Given the description of an element on the screen output the (x, y) to click on. 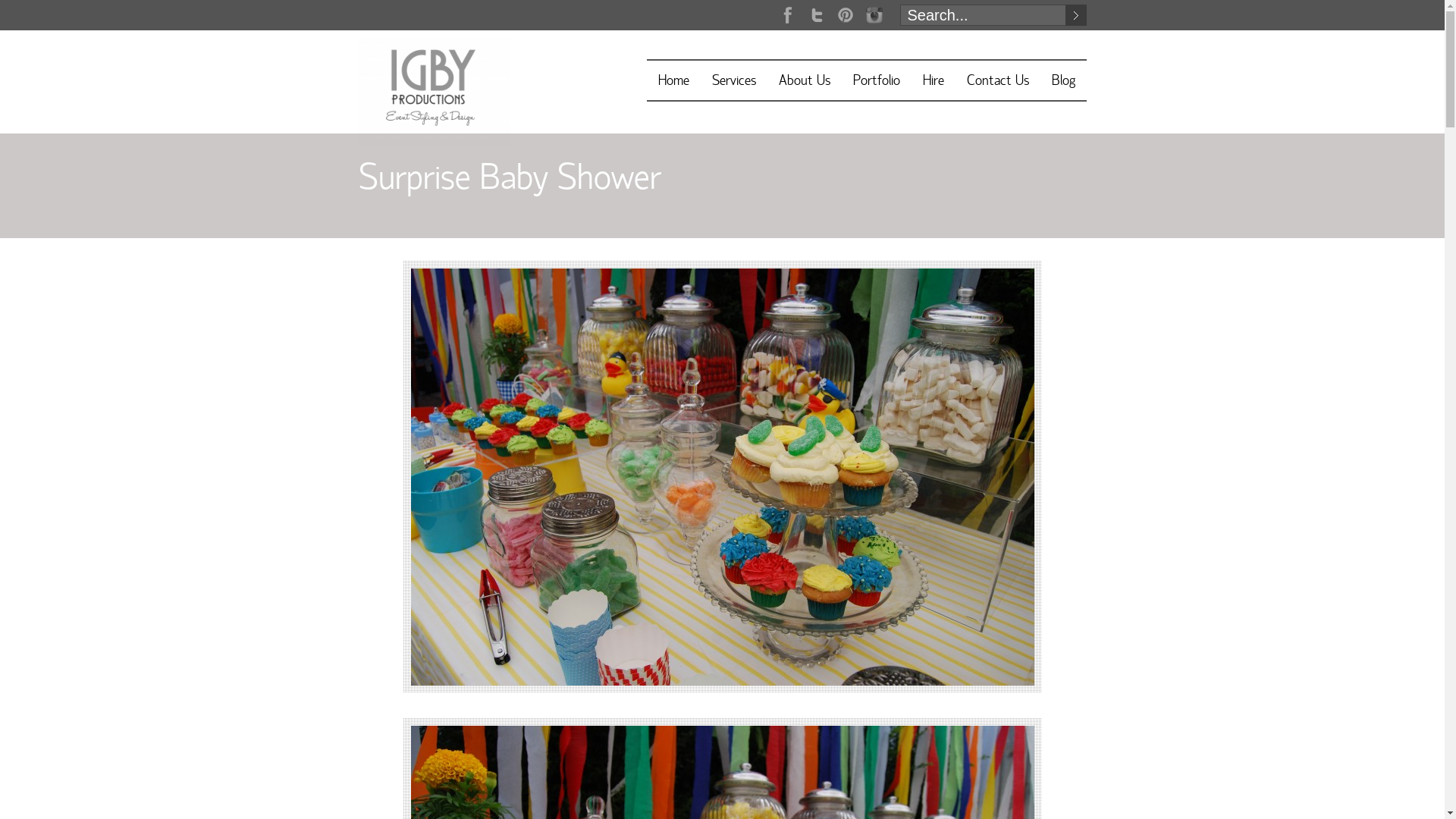
Twitter Element type: text (815, 14)
Vimeo Element type: text (844, 14)
About Us
  Element type: text (803, 81)
Hire
  Element type: text (932, 81)
Youtube Element type: text (873, 14)
Home
  Element type: text (673, 81)
Services
  Element type: text (733, 81)
Contact Us
  Element type: text (997, 81)
Facebook Element type: text (786, 14)
Blog
  Element type: text (1062, 81)
Portfolio
  Element type: text (875, 81)
